Given the description of an element on the screen output the (x, y) to click on. 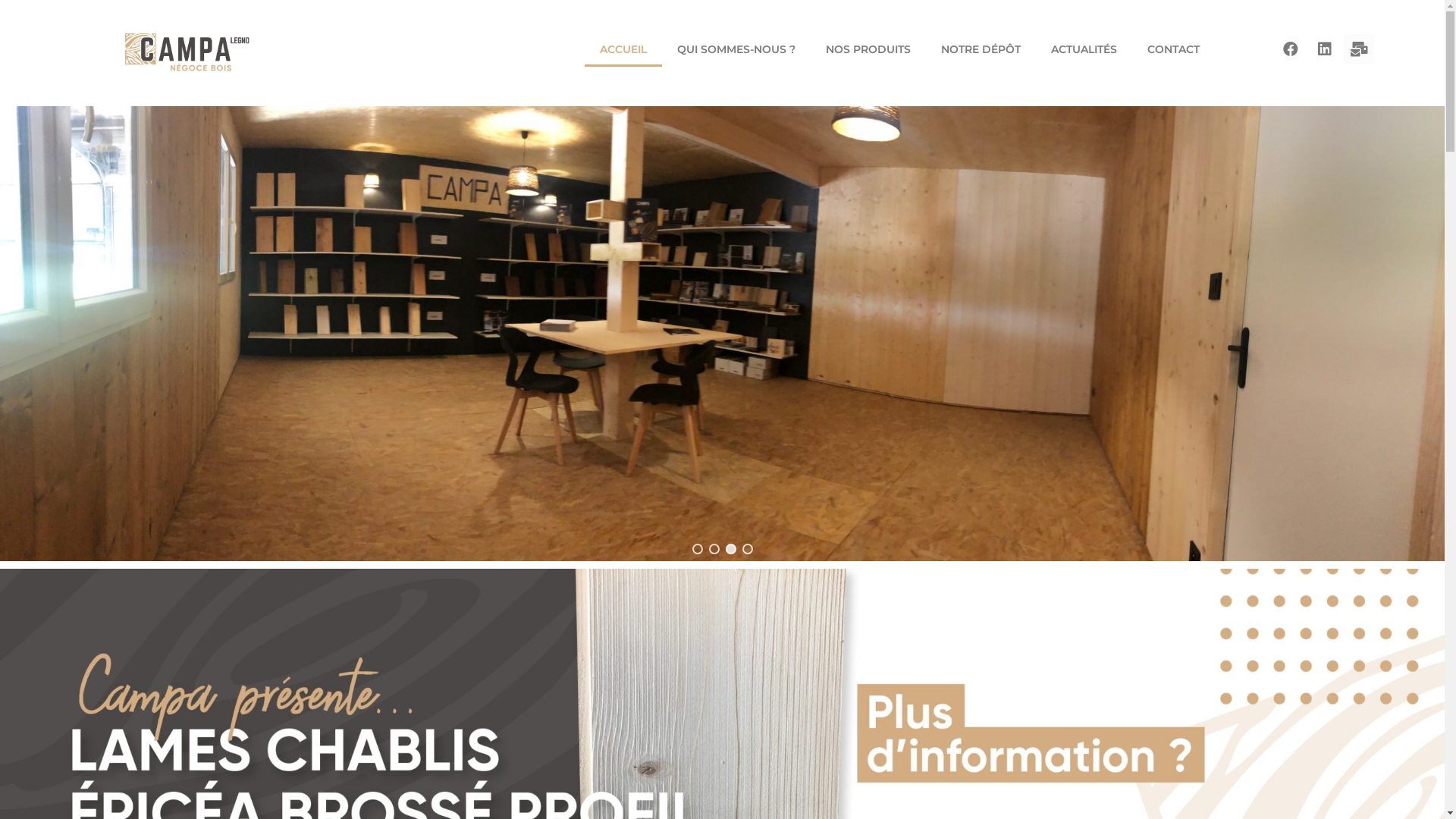
NOS PRODUITS Element type: text (867, 48)
ACCUEIL Element type: text (623, 48)
CONTACT Element type: text (1173, 48)
QUI SOMMES-NOUS ? Element type: text (736, 48)
